Given the description of an element on the screen output the (x, y) to click on. 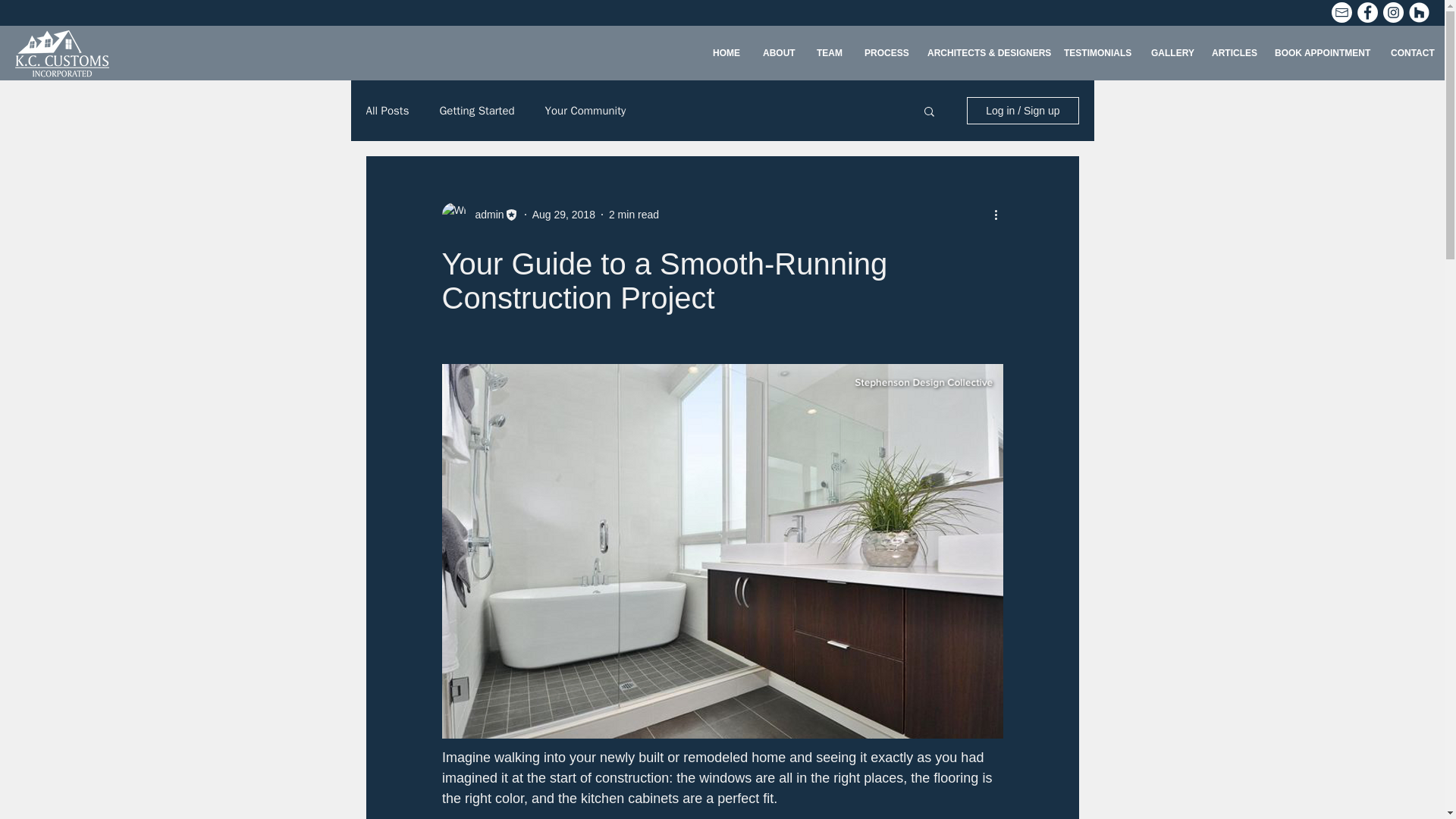
Your Community (585, 110)
BOOK APPOINTMENT (1320, 52)
ARTICLES (1231, 52)
Getting Started (476, 110)
TESTIMONIALS (1096, 52)
TEAM (829, 52)
admin (484, 213)
HOME (725, 52)
Aug 29, 2018 (563, 214)
PROCESS (884, 52)
